Given the description of an element on the screen output the (x, y) to click on. 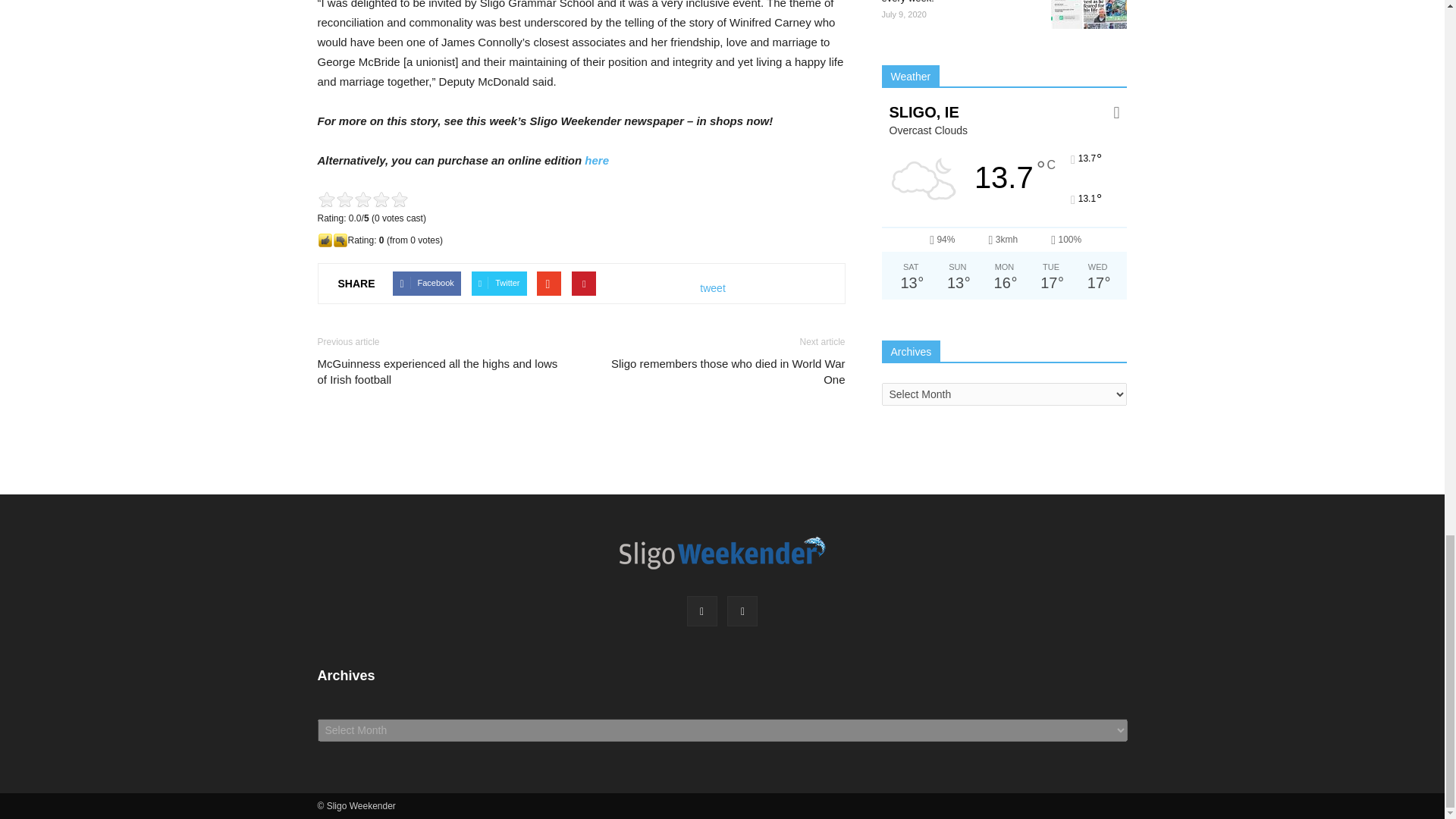
here (596, 160)
